Given the description of an element on the screen output the (x, y) to click on. 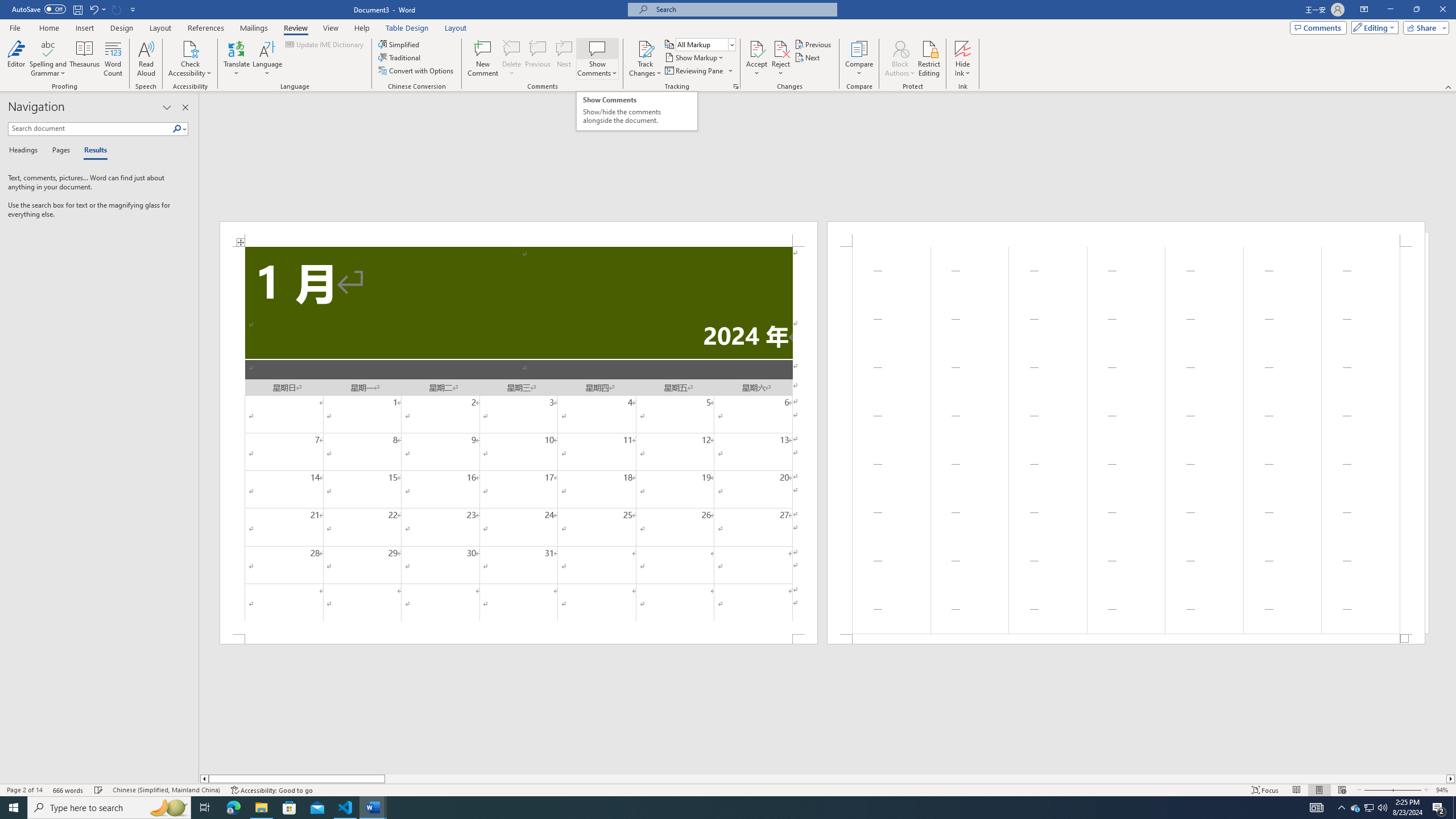
Restrict Editing (929, 58)
Hide Ink (962, 48)
Delete (511, 58)
Reviewing Pane (698, 69)
